Given the description of an element on the screen output the (x, y) to click on. 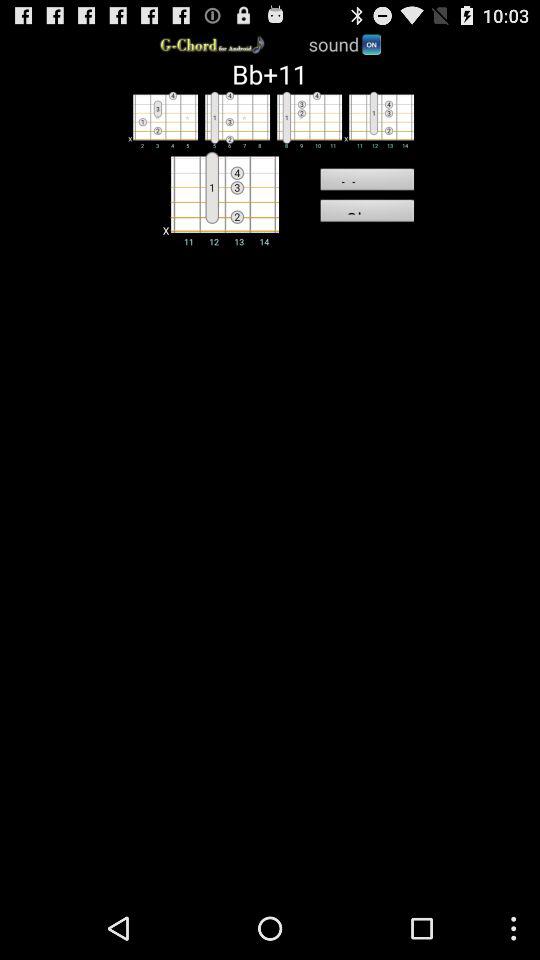
launch item above clear (366, 181)
